Given the description of an element on the screen output the (x, y) to click on. 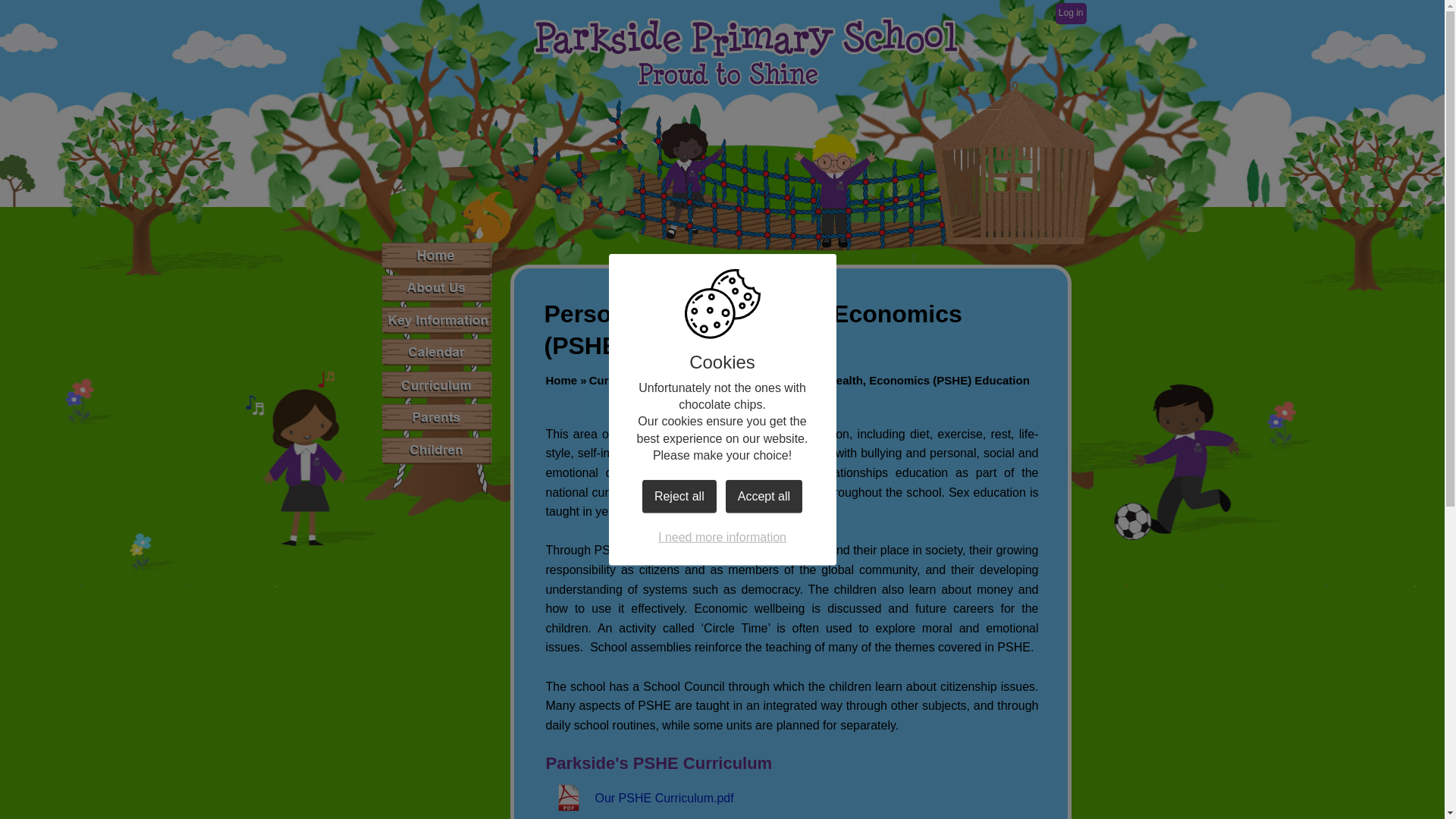
About Us (436, 287)
Curriculum (691, 379)
Log in (1070, 13)
Home Page (744, 51)
Home (436, 255)
Home (562, 379)
Key Information (436, 319)
Home Page (744, 51)
Curriculum (619, 379)
Our PSHE Curriculum.pdf (639, 797)
